Given the description of an element on the screen output the (x, y) to click on. 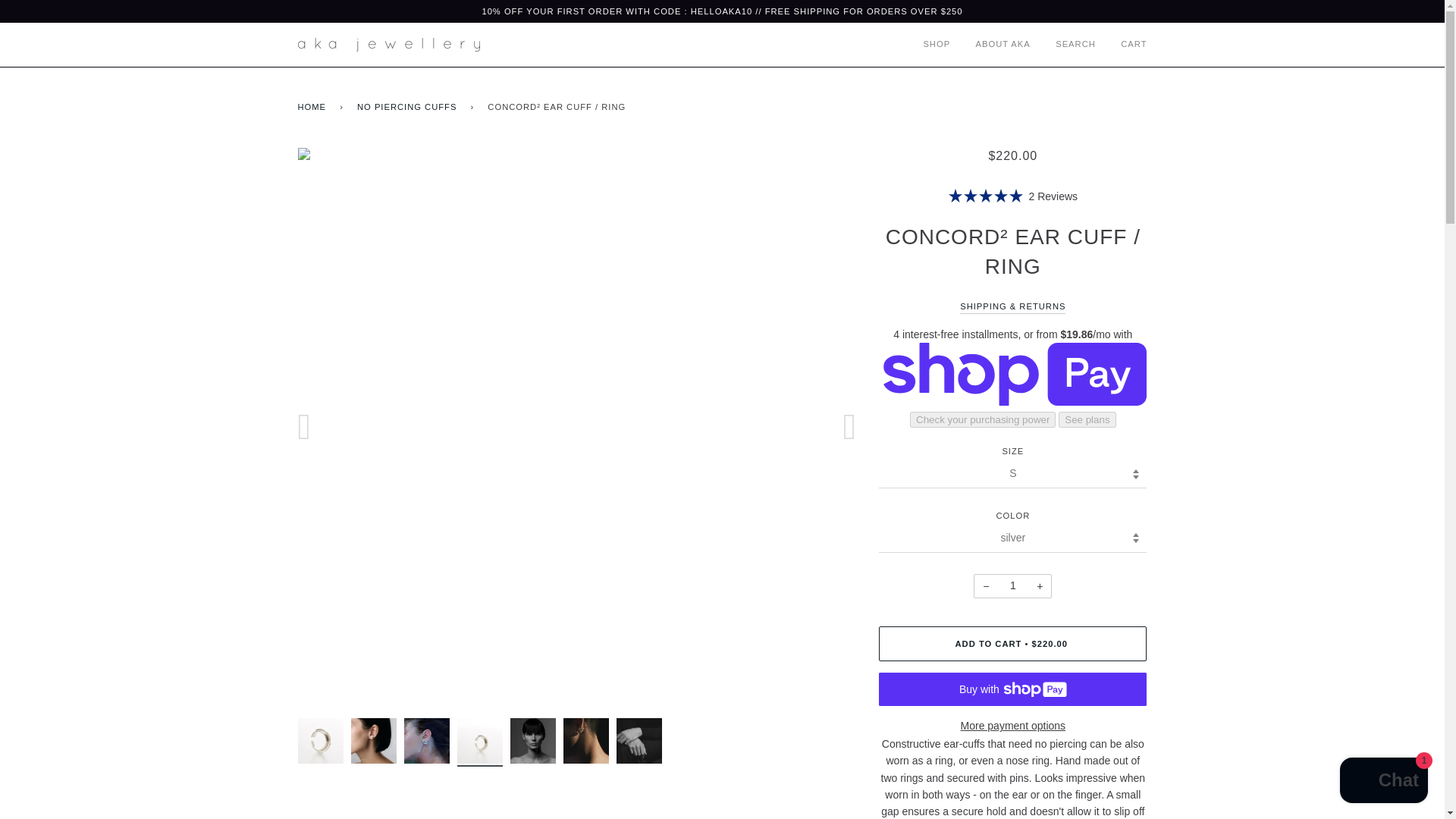
Back to the frontpage (314, 107)
CART (1122, 44)
SEARCH (1064, 44)
Shopify online store chat (1383, 781)
ABOUT AKA (991, 44)
1 (1012, 586)
